Given the description of an element on the screen output the (x, y) to click on. 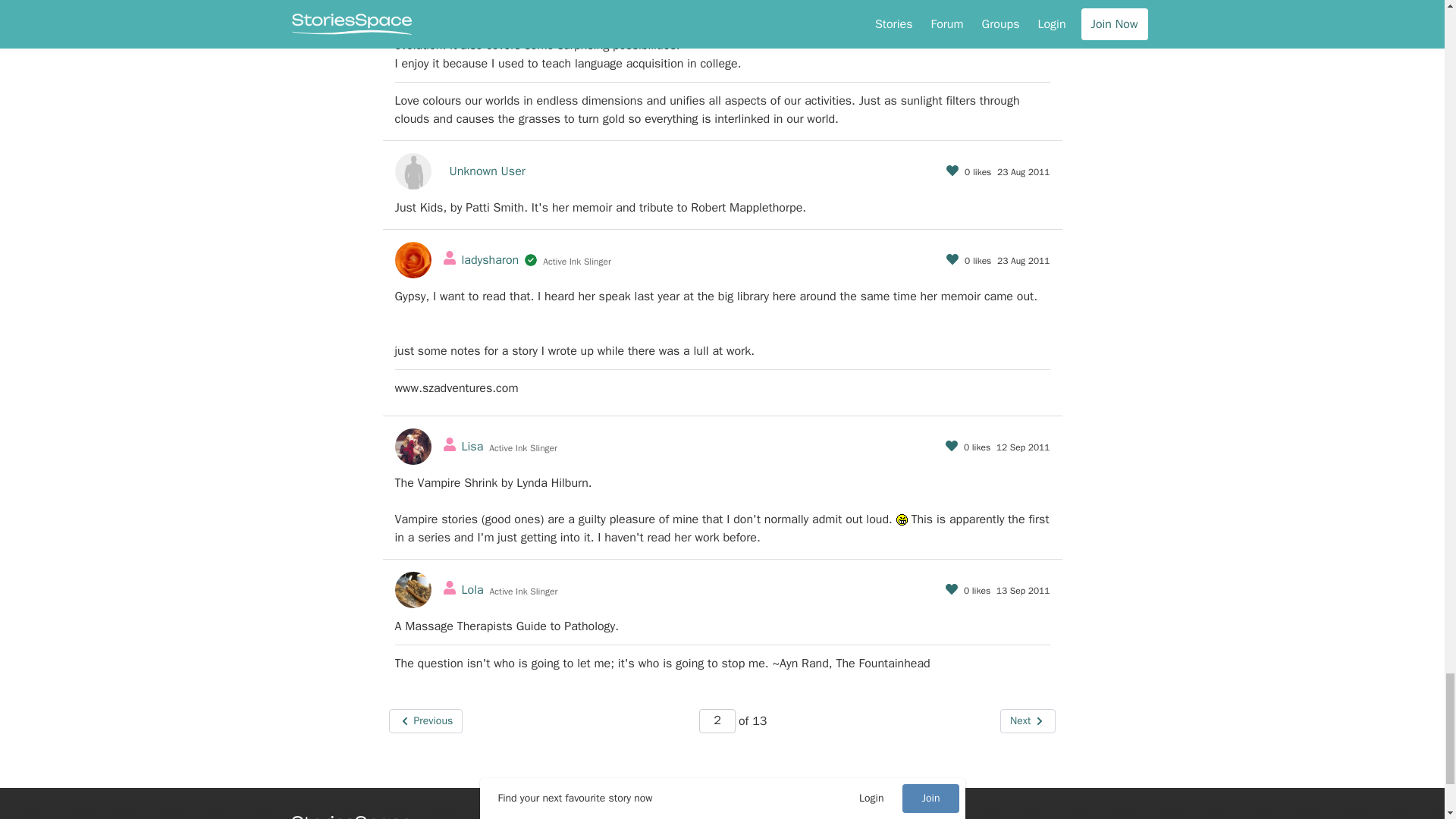
2 (716, 721)
evil4 (901, 519)
